Given the description of an element on the screen output the (x, y) to click on. 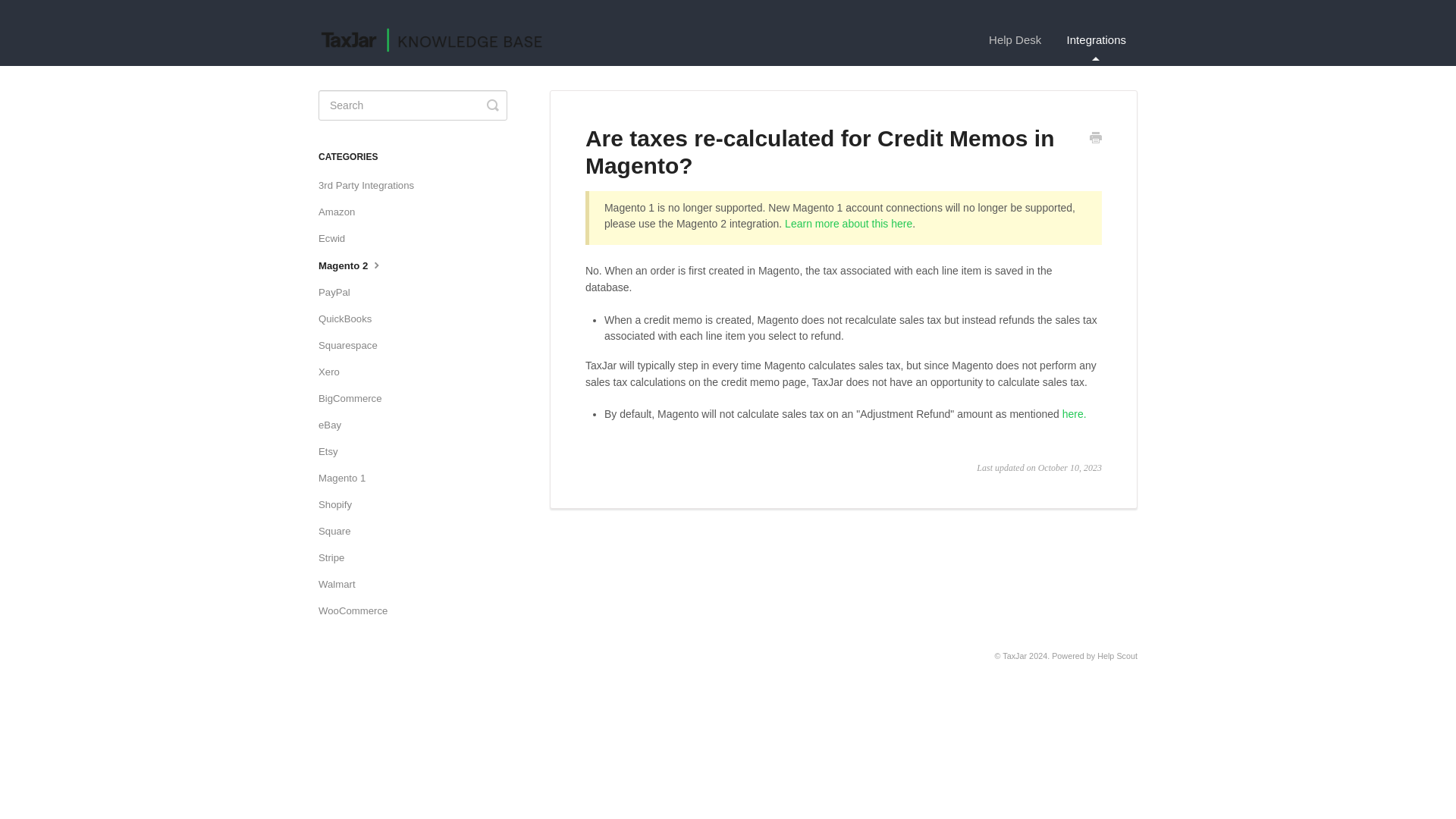
WooCommerce (358, 610)
Magento 2 (357, 265)
Integrations (1096, 39)
TaxJar (1014, 655)
Print this article (1095, 139)
Ecwid (337, 238)
Magento 1 (347, 478)
PayPal (339, 292)
BigCommerce (355, 398)
eBay (335, 425)
Help Desk (1014, 39)
Help Scout (1117, 655)
Square (340, 531)
here. (1074, 413)
Stripe (336, 558)
